Given the description of an element on the screen output the (x, y) to click on. 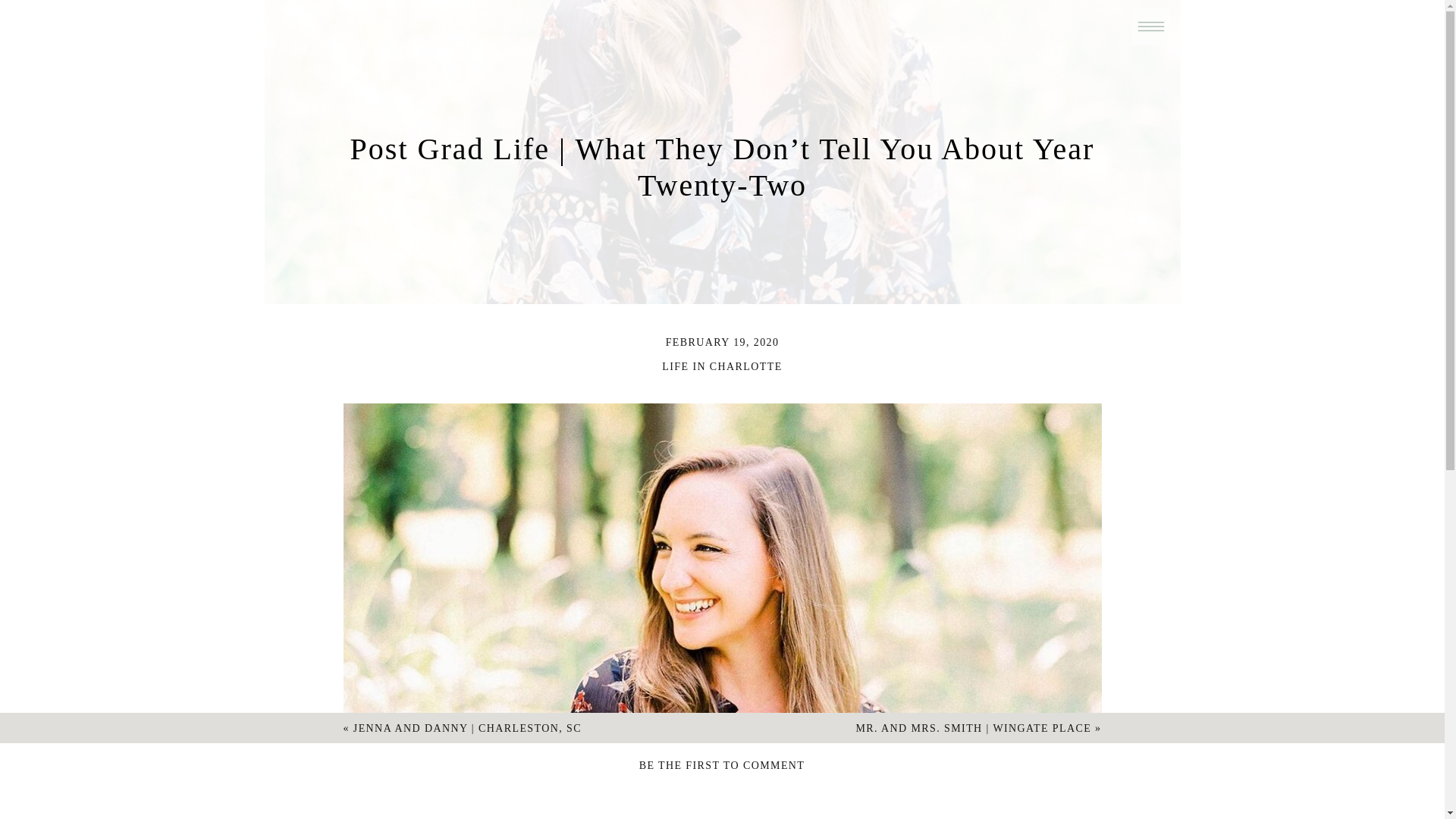
LIFE IN CHARLOTTE (721, 366)
BE THE FIRST TO COMMENT (722, 765)
